Given the description of an element on the screen output the (x, y) to click on. 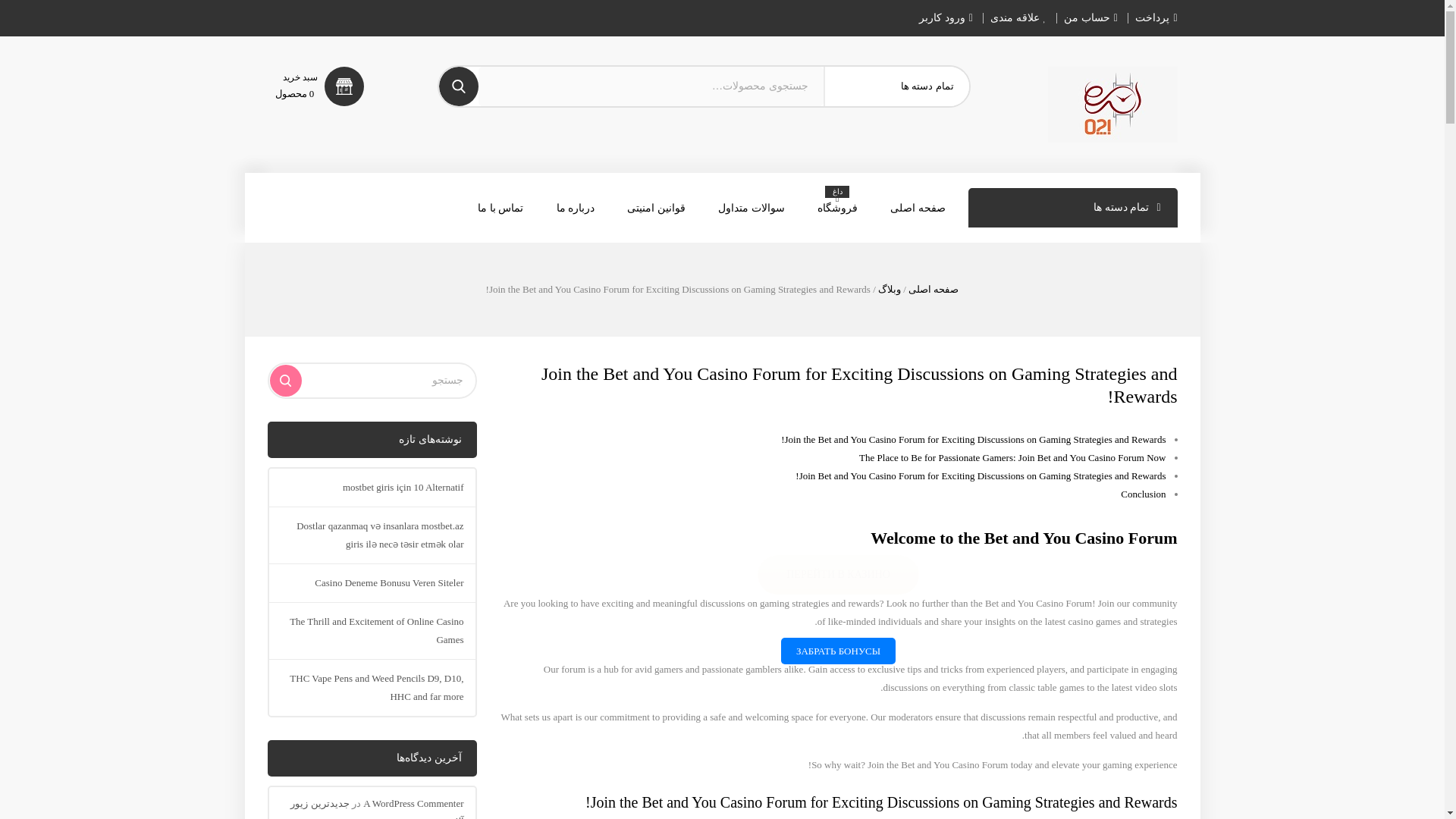
Conclusion (1143, 493)
Sweet Bonanza (1112, 104)
